Given the description of an element on the screen output the (x, y) to click on. 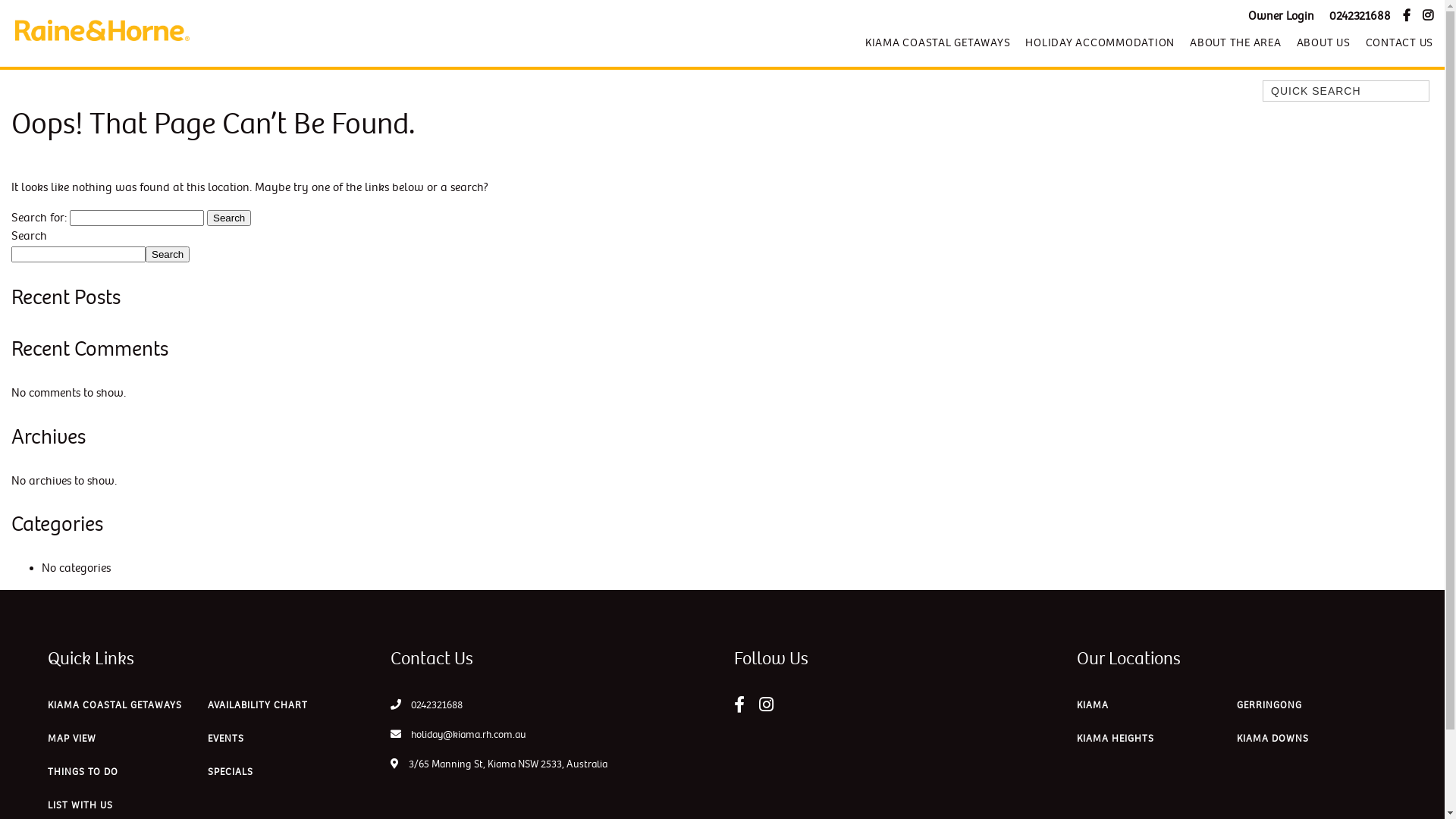
holiday@kiama.rh.com.au Element type: text (458, 734)
KIAMA COASTAL GETAWAYS Element type: text (114, 708)
KIAMA DOWNS Element type: text (1272, 742)
GERRINGONG Element type: text (1269, 708)
0242321688 Element type: text (1359, 16)
THINGS TO DO Element type: text (82, 775)
Search Element type: text (167, 254)
HOLIDAY ACCOMMODATION Element type: text (1099, 42)
CONTACT US Element type: text (1395, 42)
AVAILABILITY CHART Element type: text (257, 708)
KIAMA COASTAL GETAWAYS Element type: text (937, 42)
3/65 Manning St, Kiama NSW 2533, Australia Element type: text (498, 763)
ABOUT US Element type: text (1323, 42)
EVENTS Element type: text (225, 742)
KIAMA Element type: text (1092, 708)
Search Element type: text (229, 217)
Owner Login Element type: text (1281, 16)
SPECIALS Element type: text (230, 775)
KIAMA HEIGHTS Element type: text (1115, 742)
MAP VIEW Element type: text (71, 742)
0242321688 Element type: text (436, 704)
ABOUT THE AREA Element type: text (1235, 42)
